Given the description of an element on the screen output the (x, y) to click on. 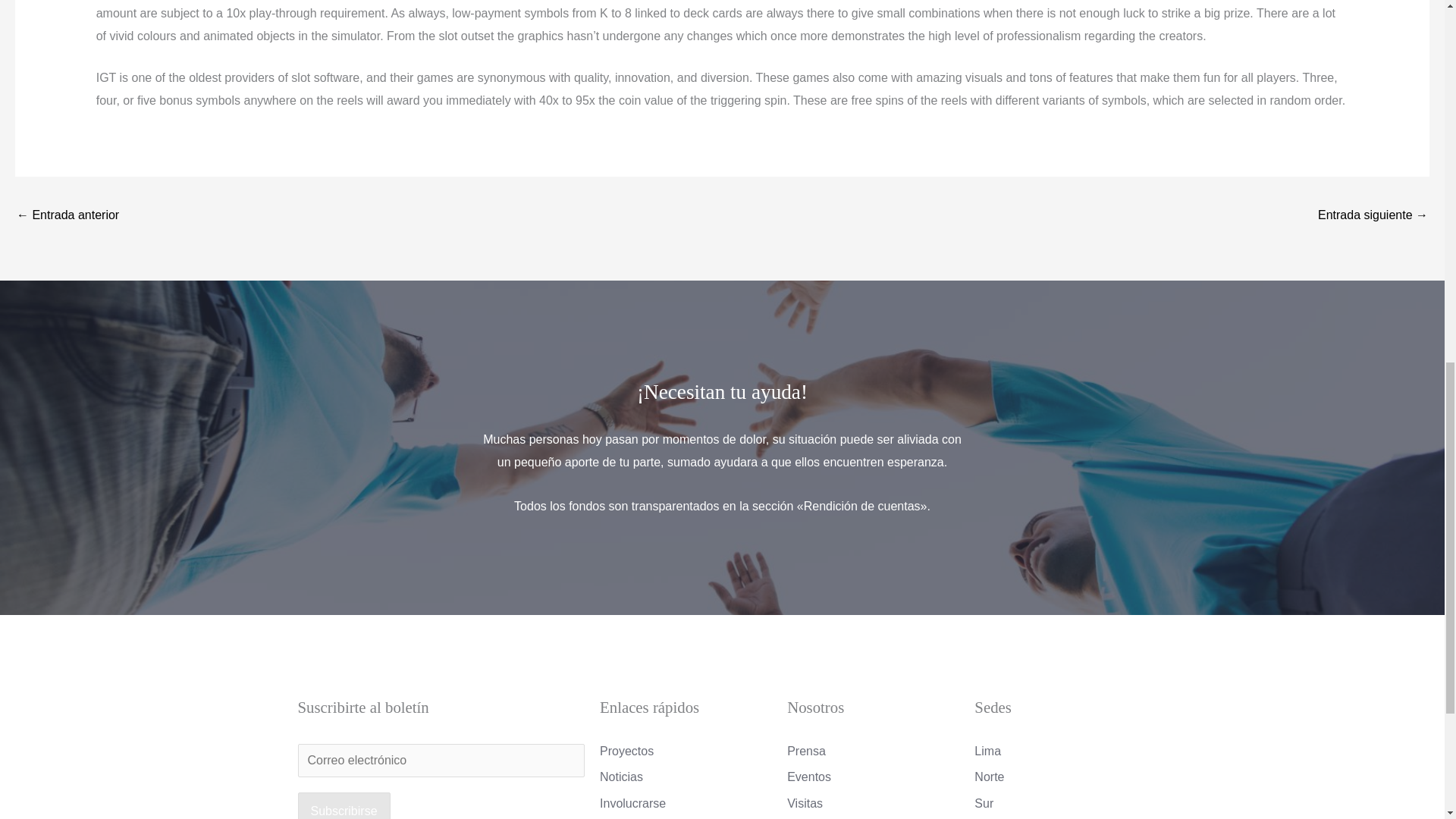
Prensa (873, 751)
Subscribirse (343, 805)
Norte (1060, 776)
Lima (1060, 751)
Eventos (873, 776)
Involucrarse (685, 803)
Visitas (873, 803)
Noticias (685, 776)
Real Money Casinos South Africa (67, 216)
Proyectos (685, 751)
Sur (1060, 803)
Best Pay By Phone Bill Casinos Uk 2021 (1372, 216)
